Given the description of an element on the screen output the (x, y) to click on. 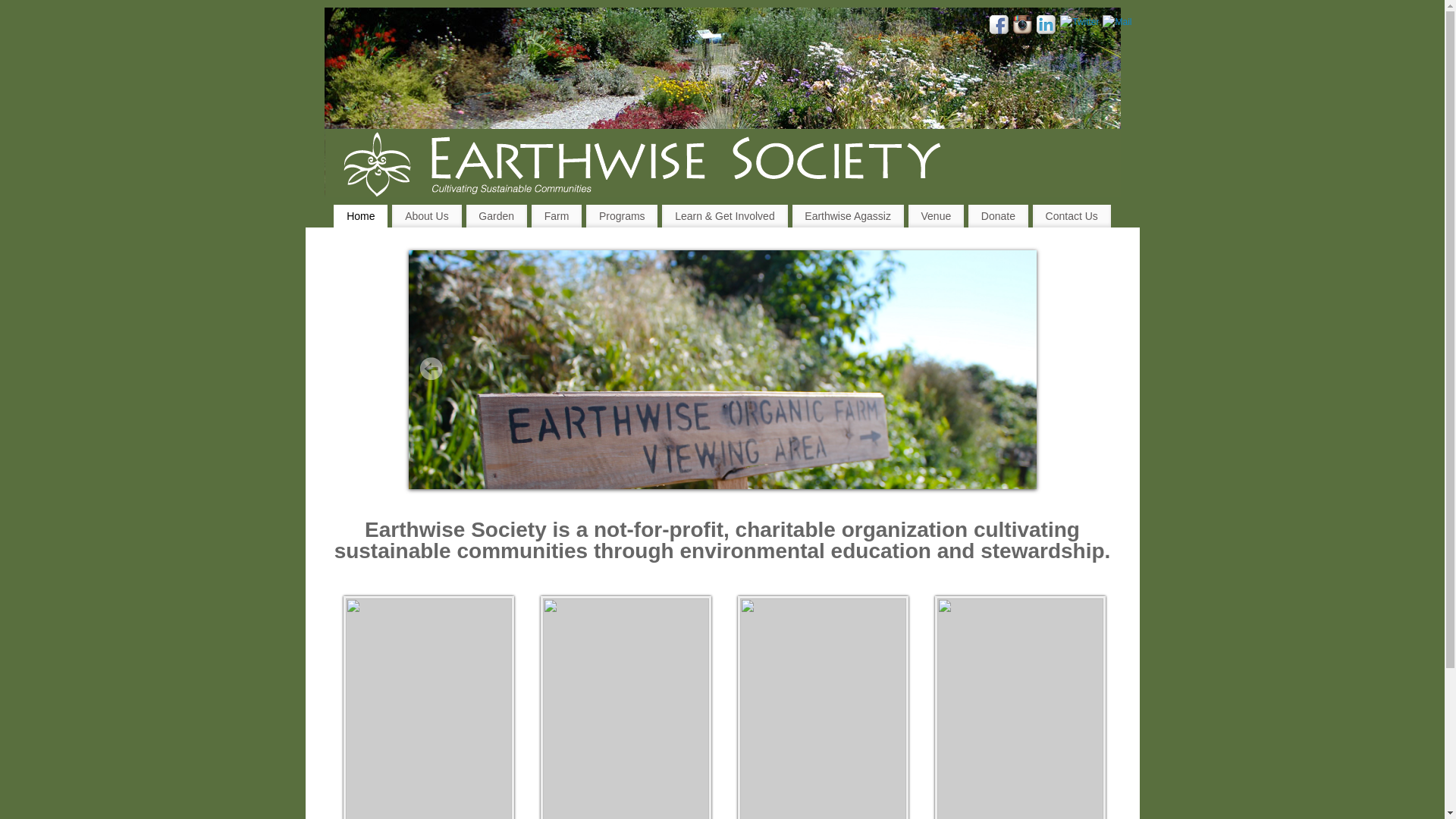
Mail Element type: hover (1116, 21)
Venue Element type: text (935, 216)
Contact Us Element type: text (1071, 216)
Home Element type: text (360, 216)
Facebook Element type: hover (999, 26)
Programs Element type: text (621, 216)
Donate Element type: text (998, 216)
LinkedIn Element type: hover (1046, 26)
Twitter Element type: hover (1079, 21)
Earthwise Agassiz Element type: text (847, 216)
Learn & Get Involved Element type: text (724, 216)
Instagram Element type: hover (1022, 26)
About Us Element type: text (426, 216)
Farm Element type: text (556, 216)
Next Element type: text (1013, 368)
Garden Element type: text (496, 216)
Prev Element type: text (431, 368)
